Given the description of an element on the screen output the (x, y) to click on. 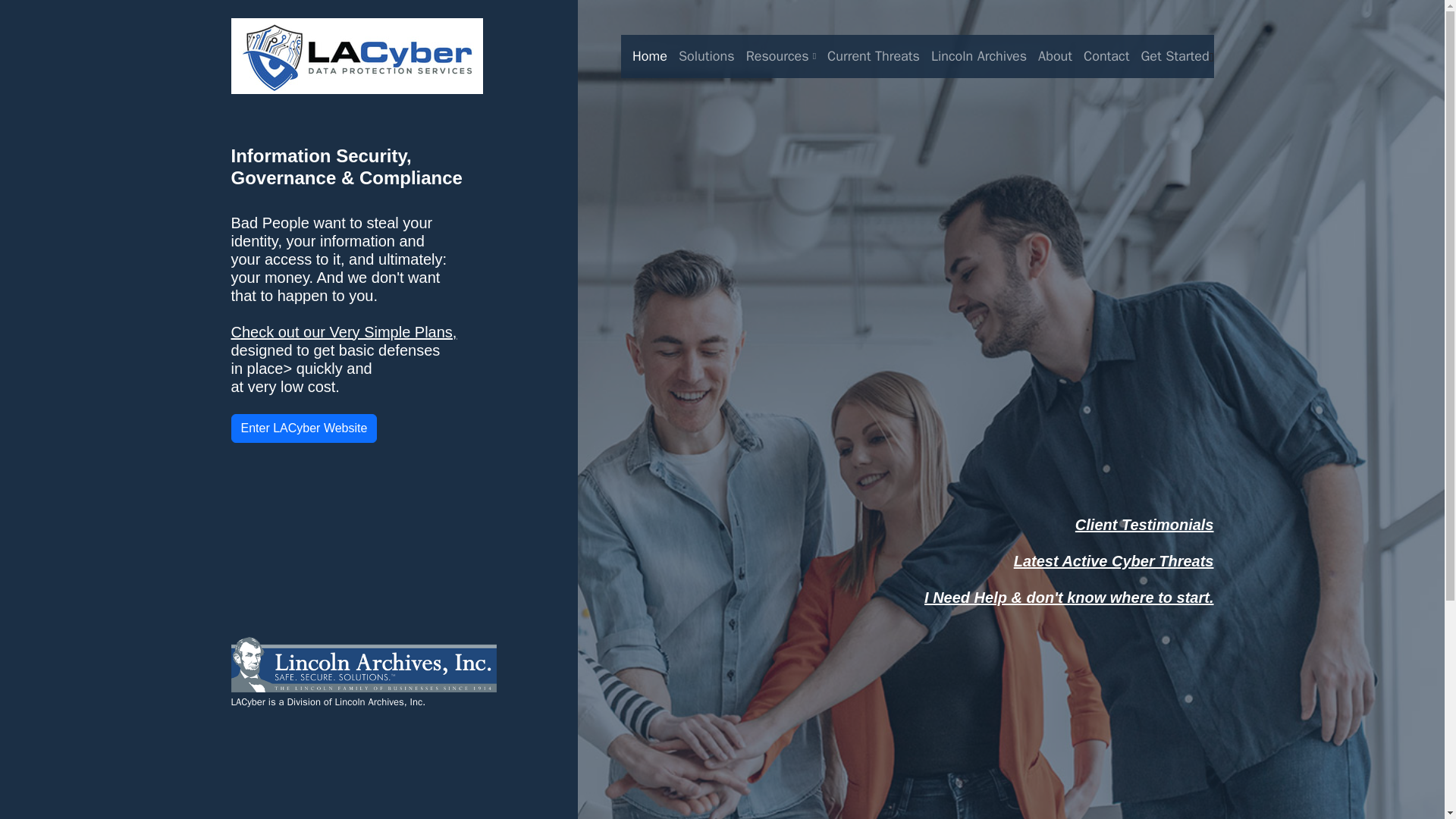
Home (643, 56)
Get Started (1168, 56)
Client Testimonials (1144, 524)
About (1048, 56)
Current Threats (867, 56)
Enter LACyber Website (303, 428)
Solutions (700, 56)
Resources (775, 56)
LACyber is a Division of Lincoln Archives, Inc. (363, 682)
Latest Active Cyber Threats (1113, 560)
